Given the description of an element on the screen output the (x, y) to click on. 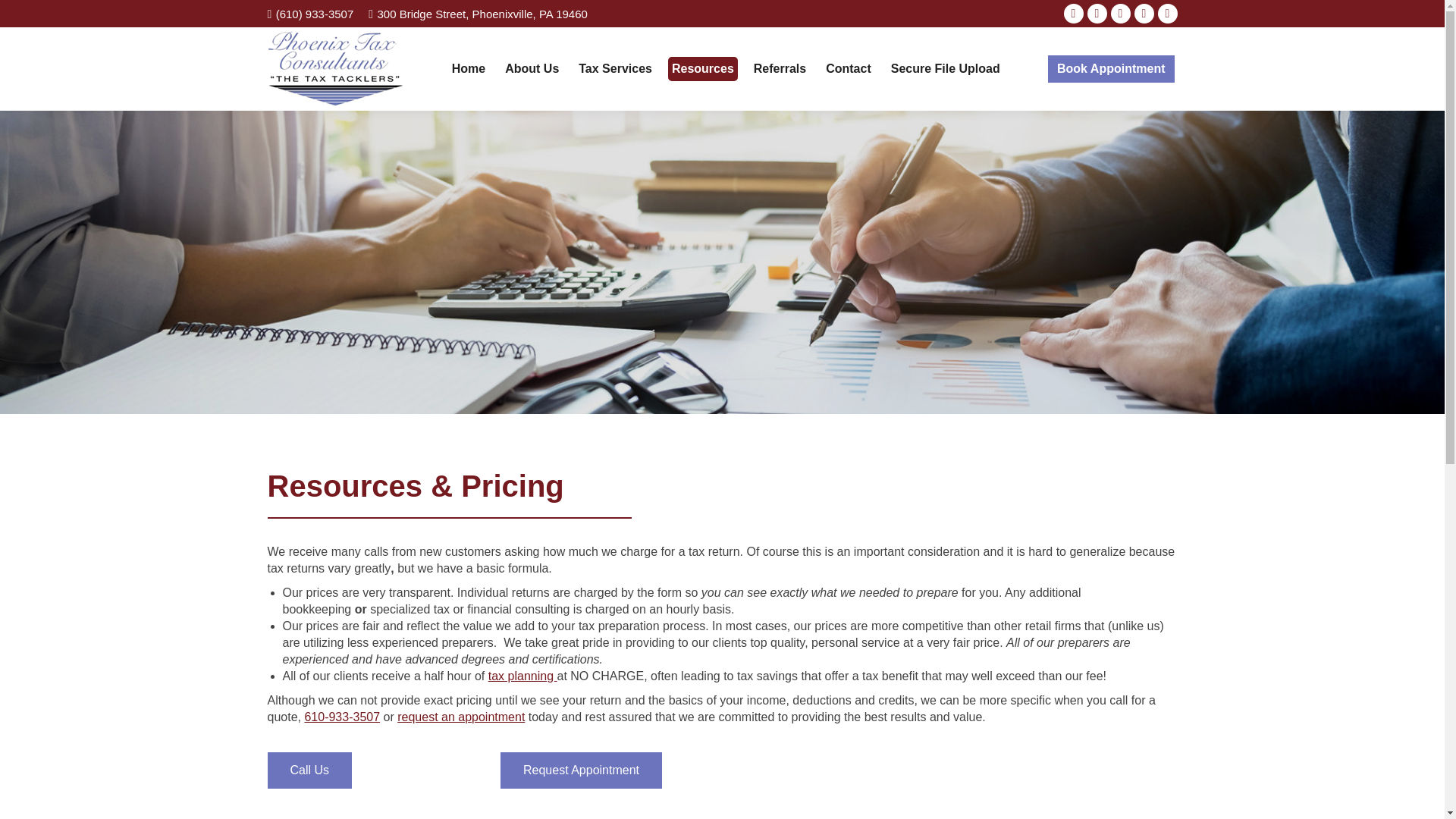
YouTube page opens in new window (1167, 13)
Facebook page opens in new window (1073, 13)
Home (468, 68)
Secure File Upload (945, 68)
Pinterest page opens in new window (1144, 13)
About Us (531, 68)
Book Appointment (581, 770)
Book Appointment (1111, 68)
Linkedin page opens in new window (1120, 13)
Resources (703, 68)
Pinterest page opens in new window (1144, 13)
YouTube page opens in new window (1167, 13)
Referrals (779, 68)
X page opens in new window (1096, 13)
Linkedin page opens in new window (1120, 13)
